Given the description of an element on the screen output the (x, y) to click on. 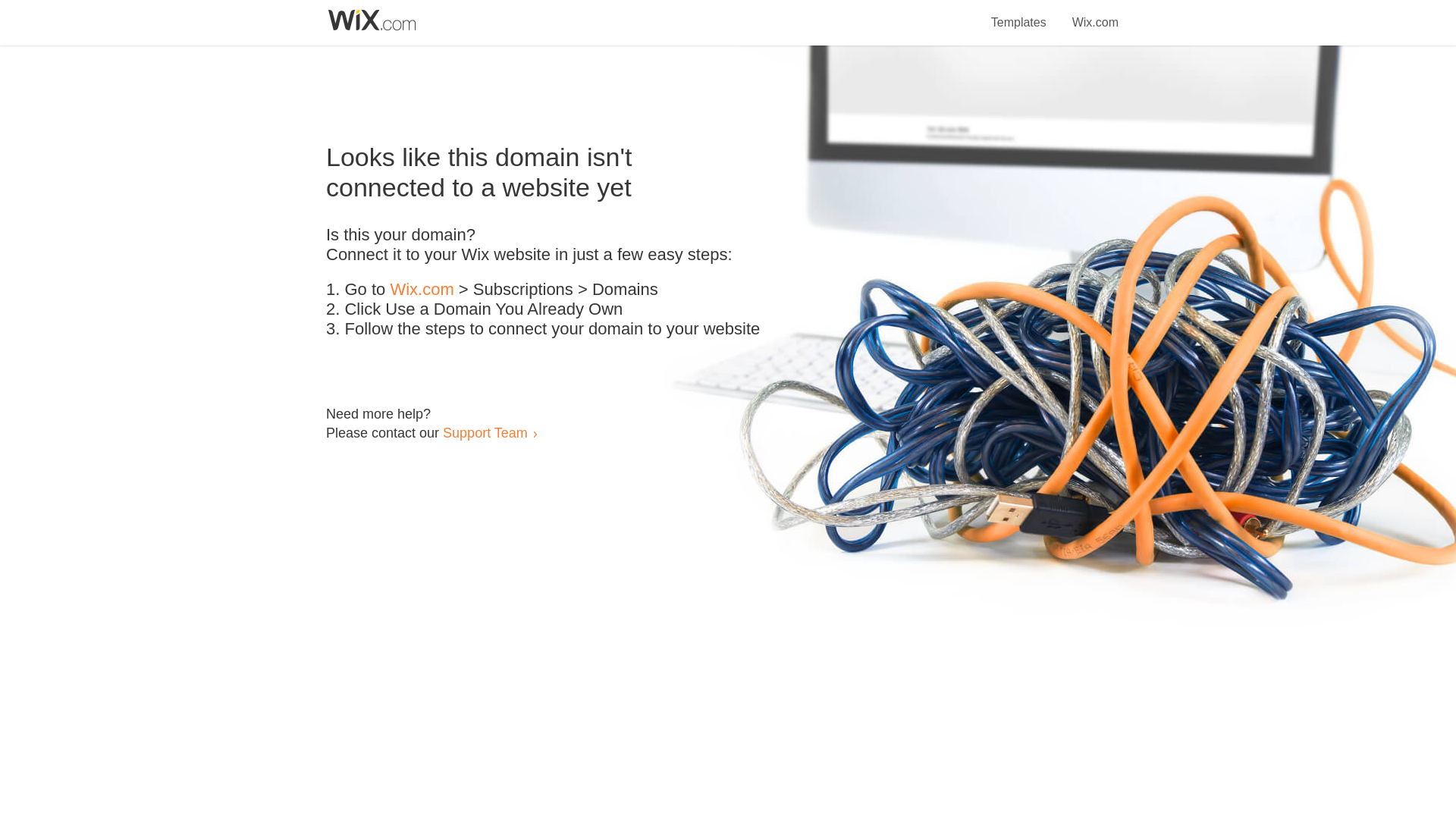
Wix.com (421, 289)
Templates (1018, 14)
Support Team (484, 432)
Wix.com (1095, 14)
